Given the description of an element on the screen output the (x, y) to click on. 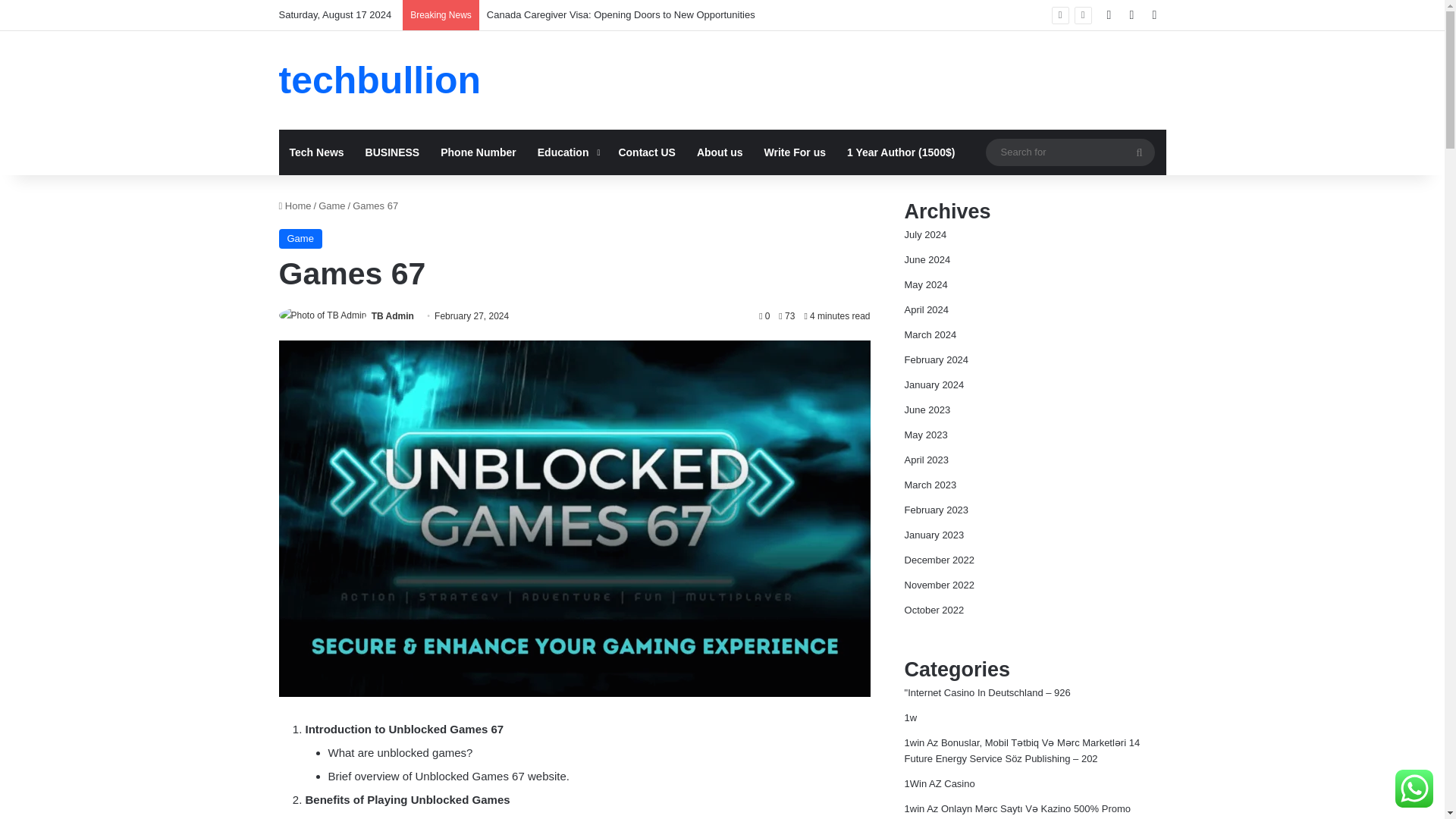
Education (567, 152)
Tech News (317, 152)
TB Admin (392, 316)
Canada Caregiver Visa: Opening Doors to New Opportunities (620, 14)
techbullion (380, 80)
Phone Number (478, 152)
Write For us (794, 152)
techbullion (380, 80)
Search for (1139, 152)
Game (300, 238)
